Given the description of an element on the screen output the (x, y) to click on. 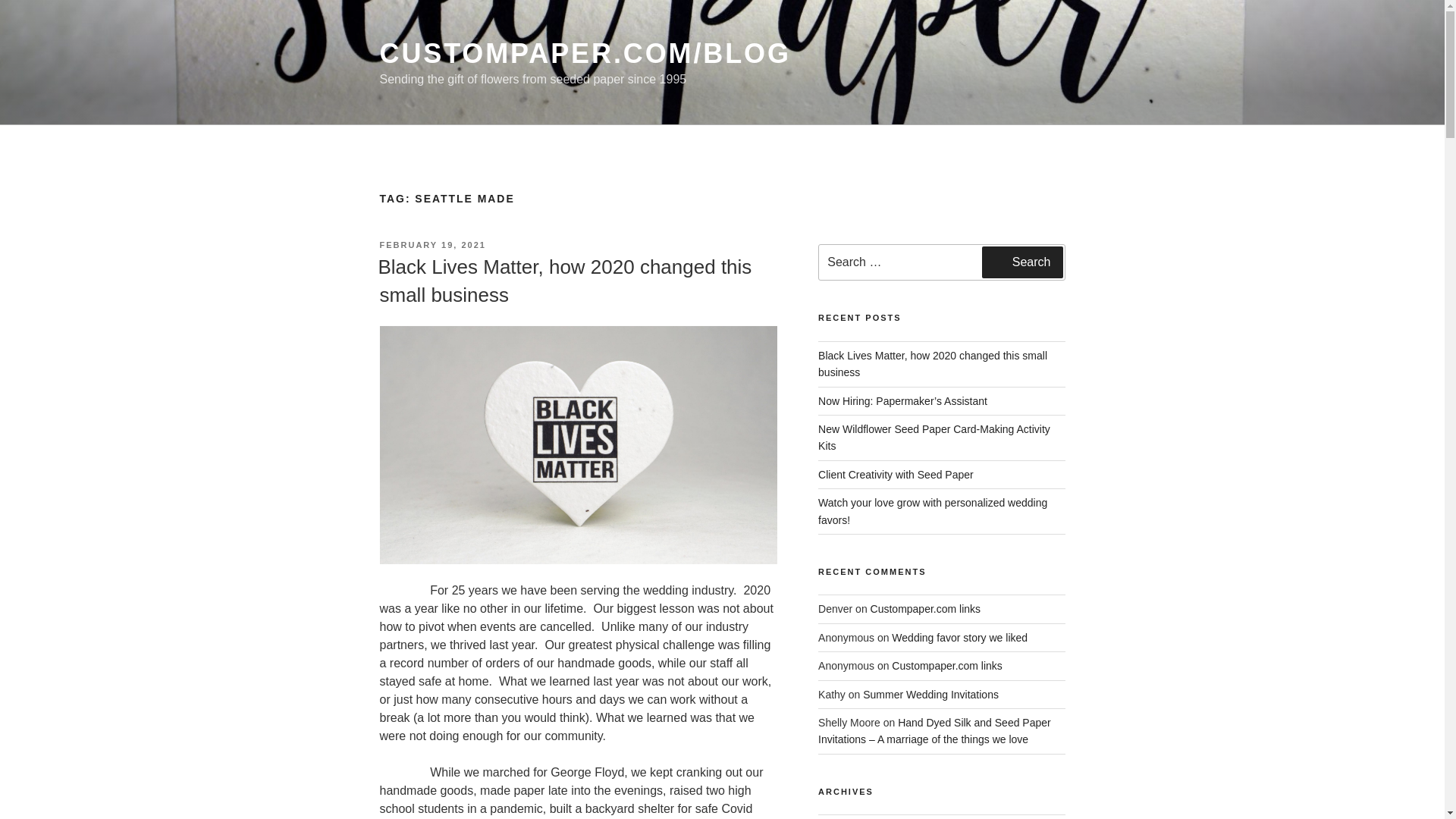
New Wildflower Seed Paper Card-Making Activity Kits (933, 437)
Search (1021, 262)
Custompaper.com links (947, 665)
FEBRUARY 19, 2021 (431, 244)
Black Lives Matter, how 2020 changed this small business (932, 363)
Custompaper.com links (925, 608)
Wedding favor story we liked (959, 637)
Watch your love grow with personalized wedding favors! (932, 510)
Client Creativity with Seed Paper (896, 474)
